Given the description of an element on the screen output the (x, y) to click on. 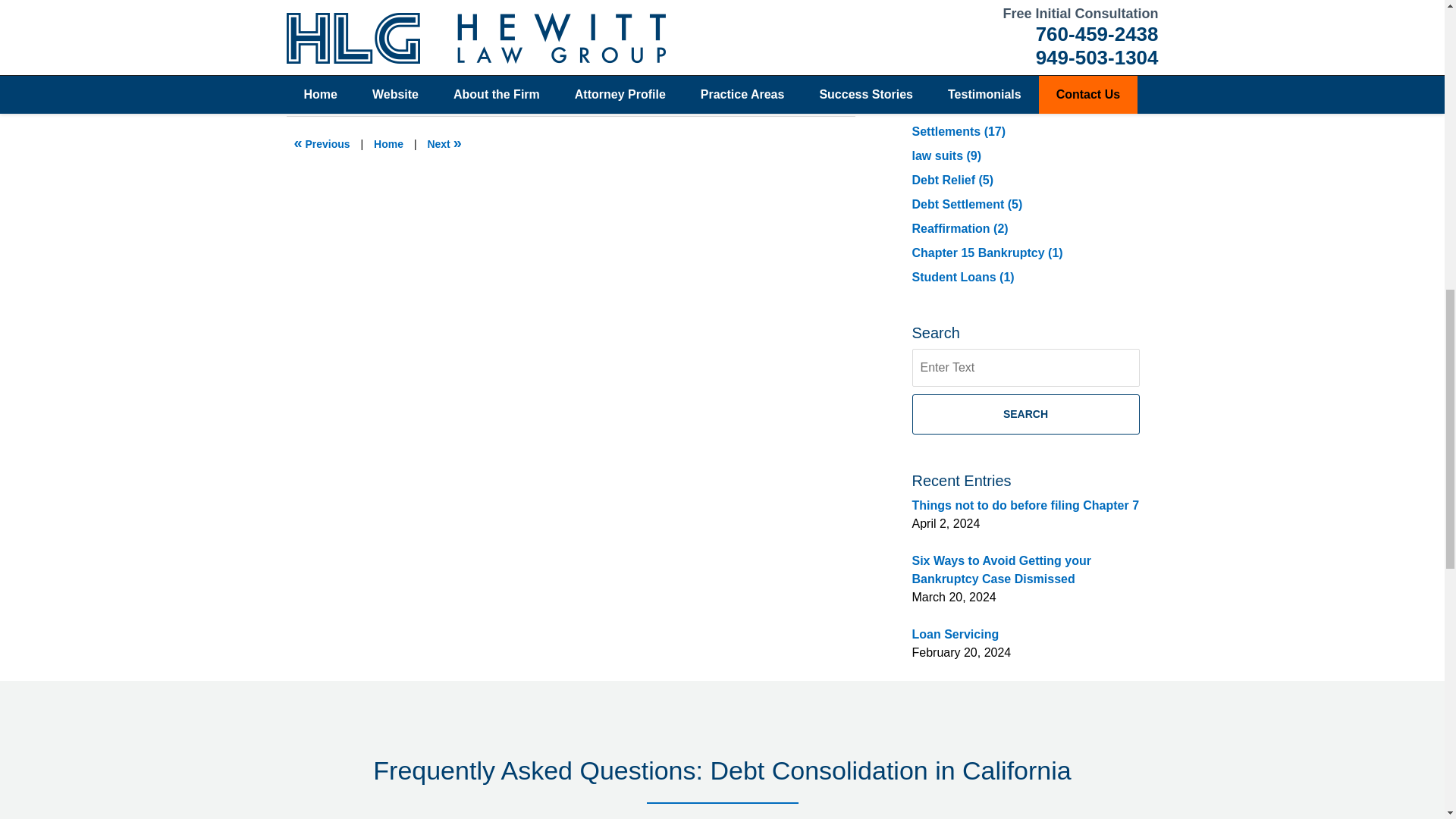
View all posts in Bankruptcy (365, 57)
View all posts in Foreclosure (564, 57)
View all posts in Chapter 7 Bankruptcy (455, 57)
Foreclosure (564, 57)
Student Loans Bankruptcy discharge Options (322, 144)
Bankruptcy (365, 57)
Chapter 7 Bankruptcy (455, 57)
Home (388, 144)
